Given the description of an element on the screen output the (x, y) to click on. 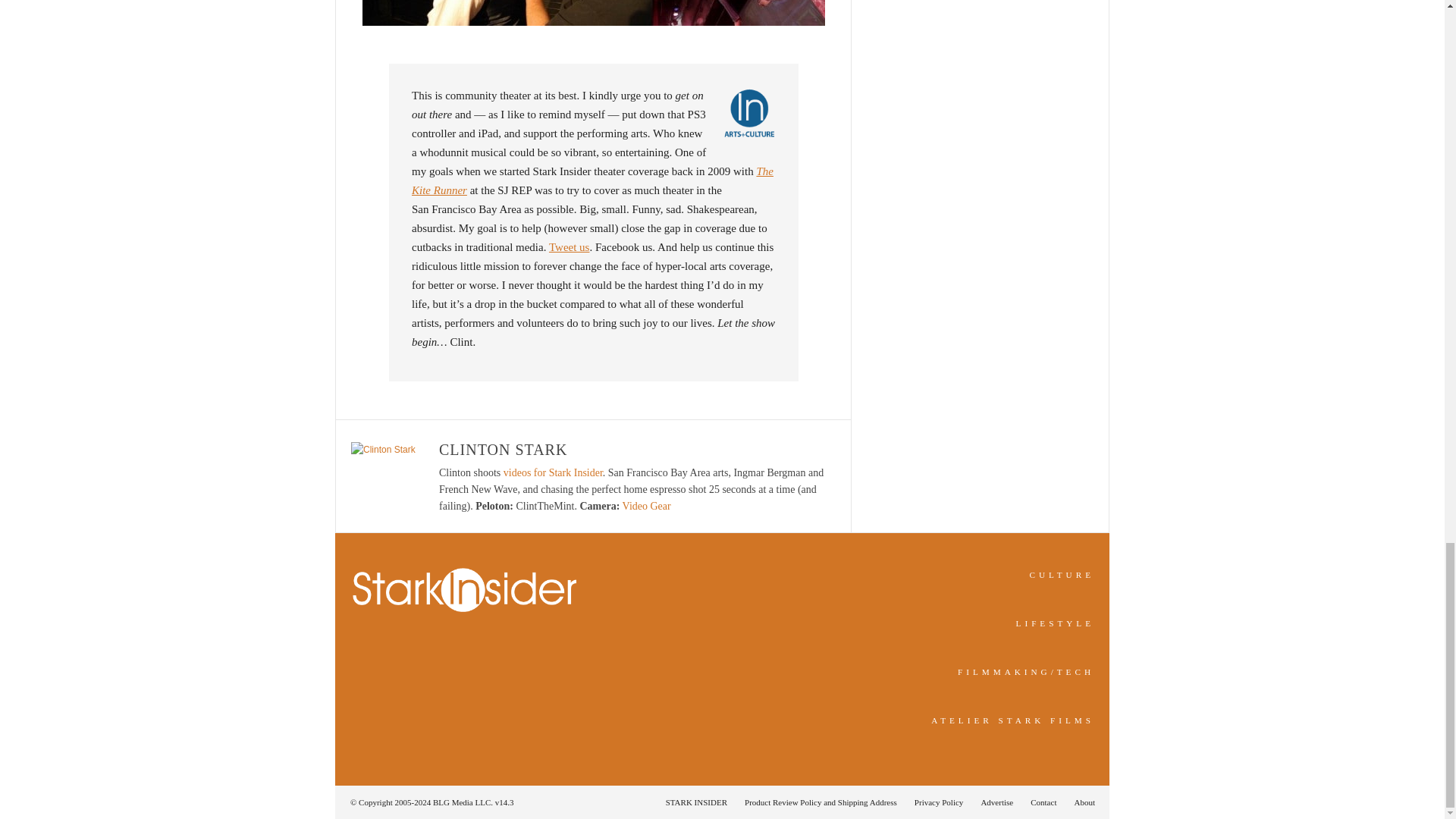
Product Review Policy and Shipping Address (820, 801)
Contact (1043, 801)
The Kite Runner (592, 180)
CULTURE (1061, 574)
About (1079, 801)
STARK INSIDER (696, 801)
Privacy Policy (939, 801)
LIFESTYLE (1055, 623)
CLINTON STARK (503, 449)
Video Gear (647, 505)
